Given the description of an element on the screen output the (x, y) to click on. 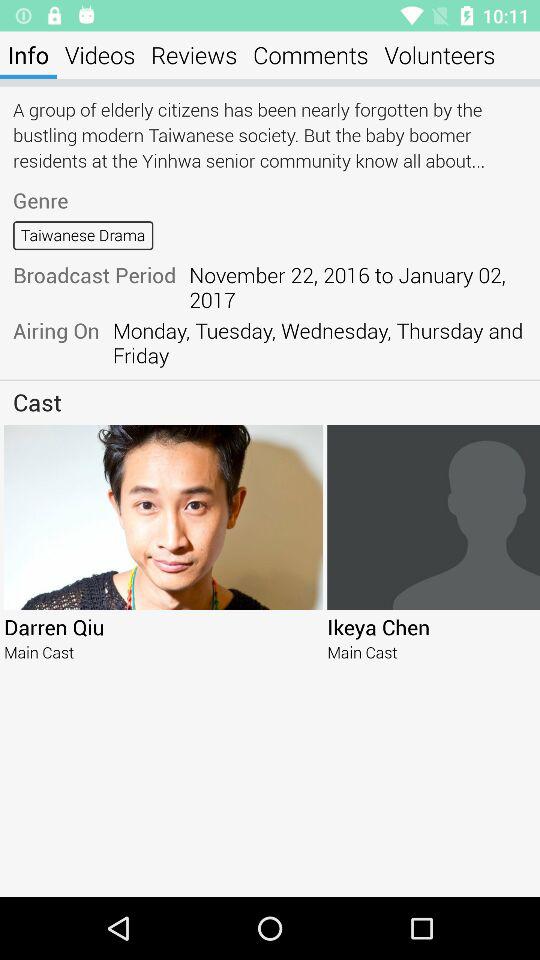
turn on icon to the left of the reviews (100, 54)
